Given the description of an element on the screen output the (x, y) to click on. 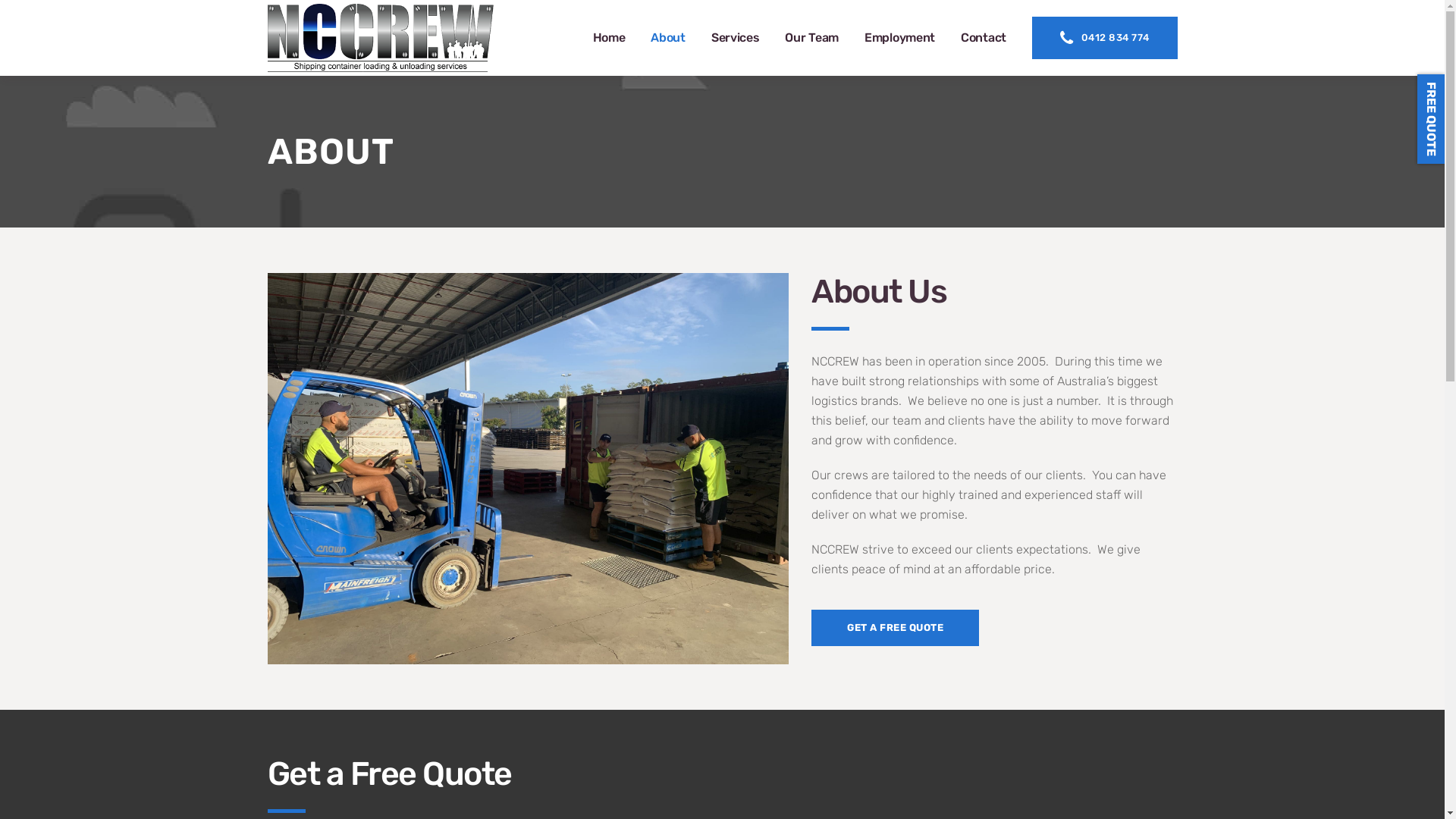
GET A FREE QUOTE Element type: text (895, 627)
About Element type: text (667, 37)
Services Element type: text (735, 37)
Home Element type: text (609, 37)
Employment Element type: text (899, 37)
0412 834 774 Element type: text (1104, 37)
Contact Element type: text (983, 37)
Our Team Element type: text (811, 37)
